Given the description of an element on the screen output the (x, y) to click on. 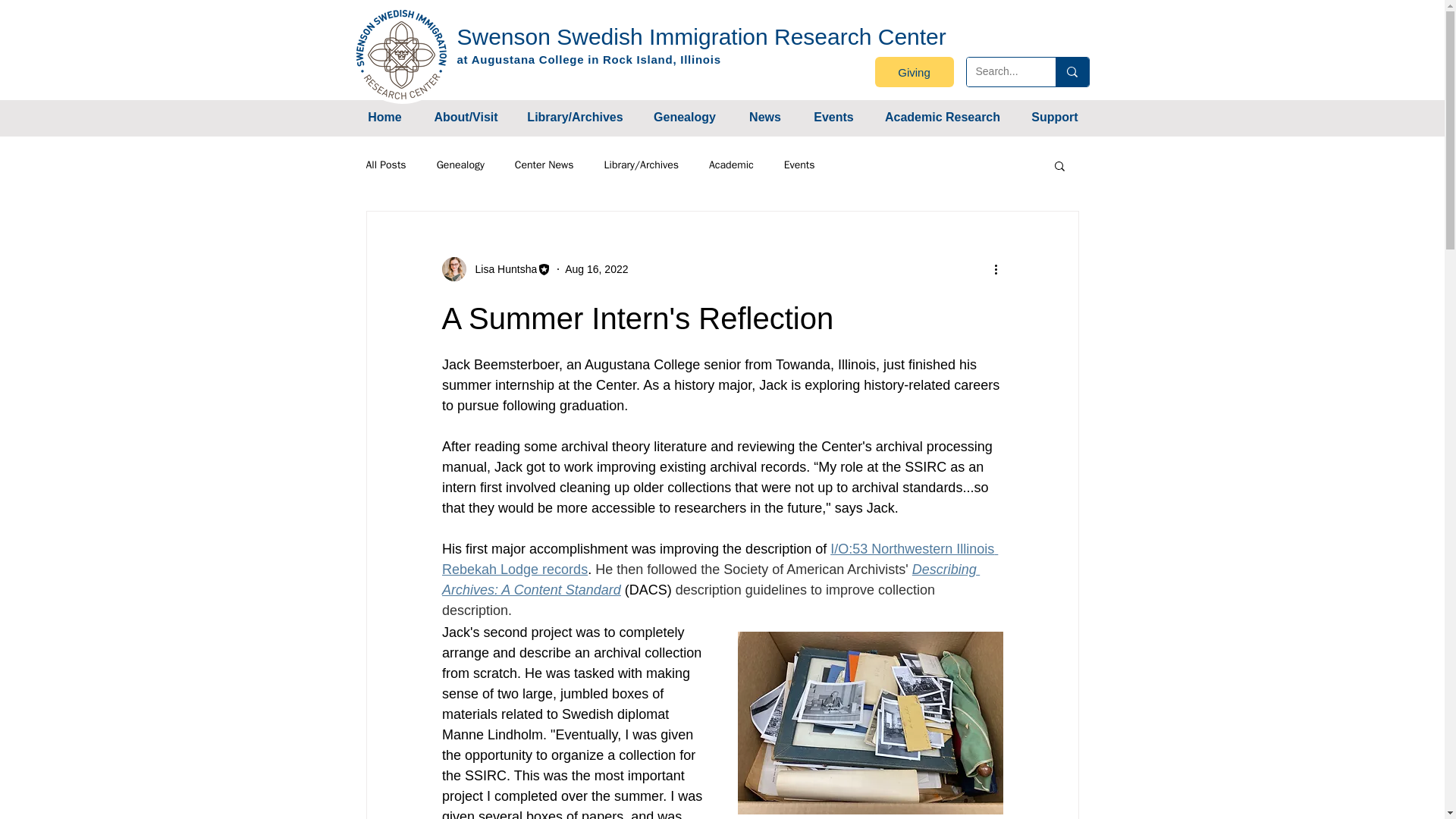
LogoVariable3.png (401, 54)
Events (833, 116)
Lisa Huntsha (501, 268)
News (764, 116)
Aug 16, 2022 (595, 268)
Home (384, 116)
Genealogy (684, 116)
